Given the description of an element on the screen output the (x, y) to click on. 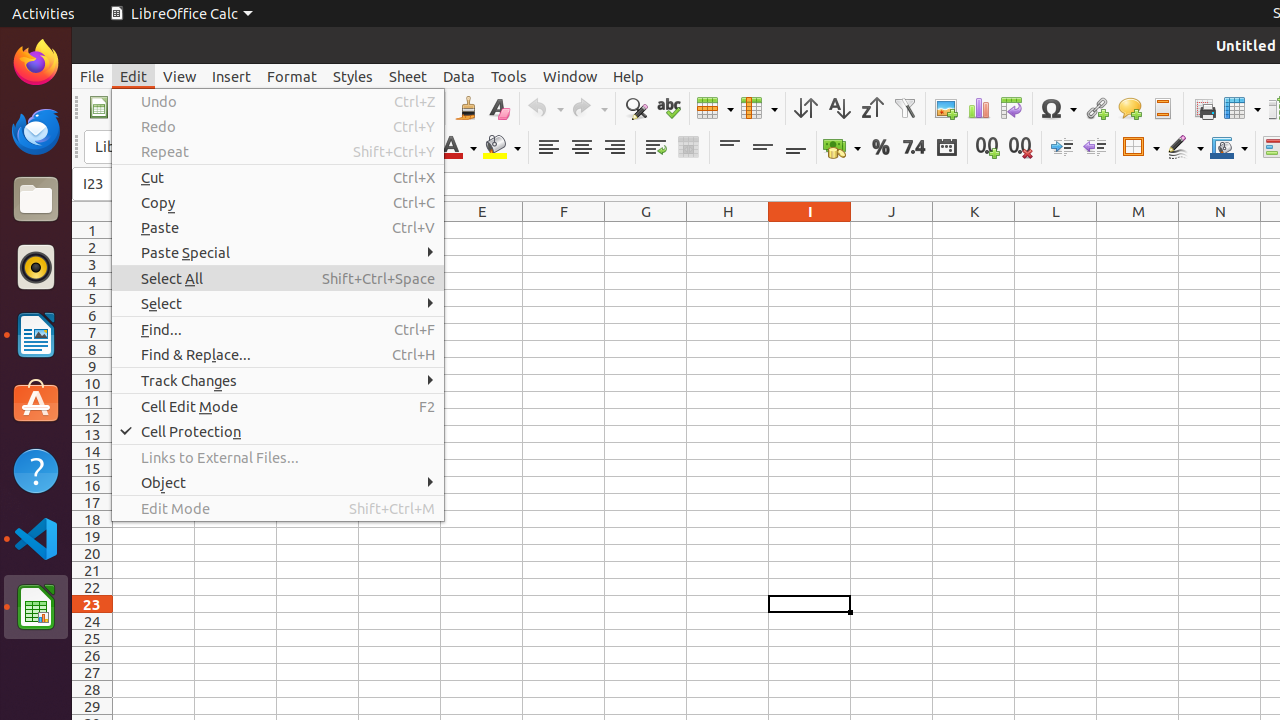
Freeze Rows and Columns Element type: push-button (1242, 108)
Image Element type: push-button (945, 108)
Increase Element type: push-button (1061, 147)
Redo Element type: menu-item (278, 126)
Data Element type: menu (459, 76)
